Given the description of an element on the screen output the (x, y) to click on. 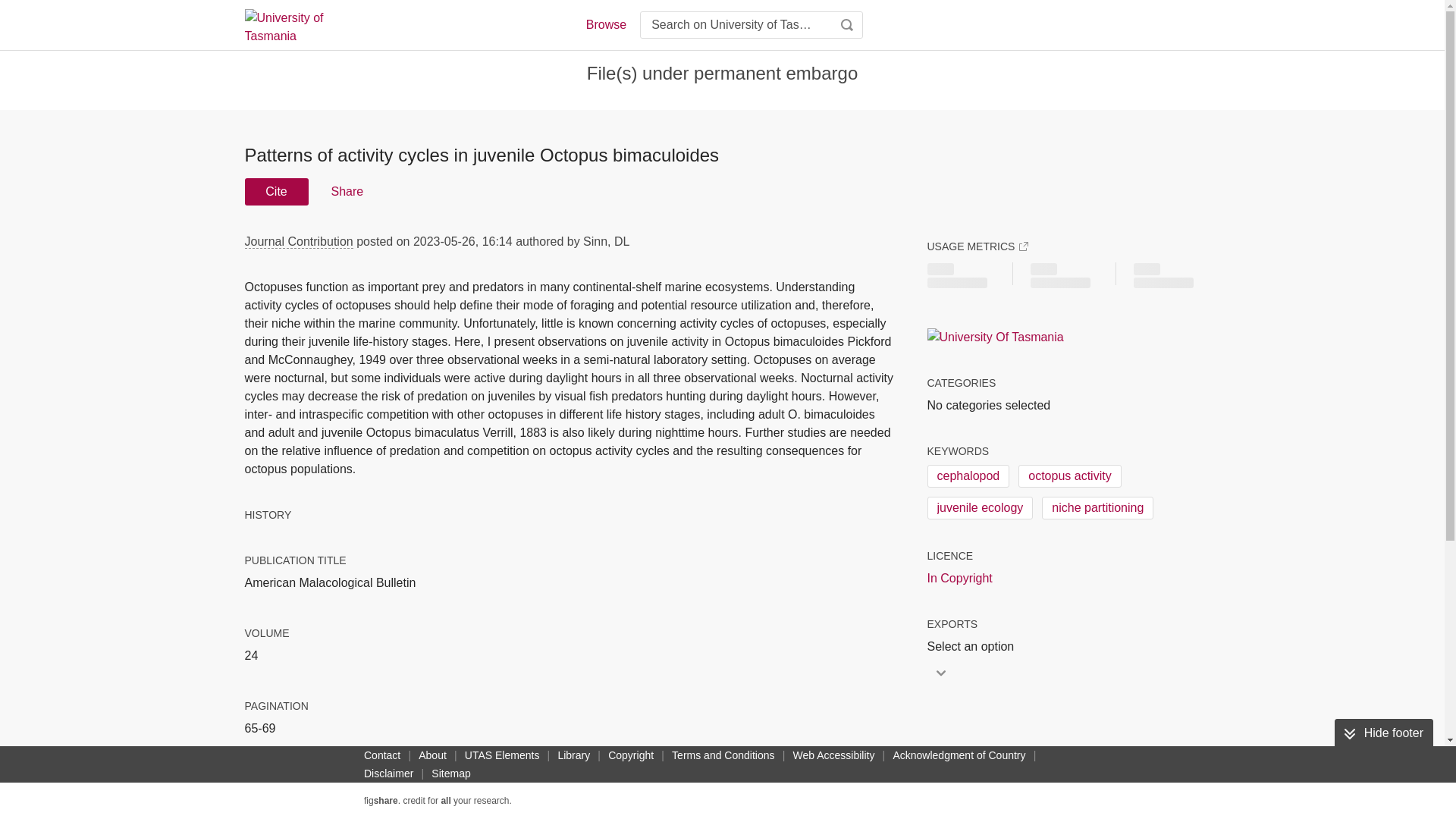
Browse (605, 24)
Web Accessibility (834, 755)
niche partitioning (1097, 507)
In Copyright (958, 578)
About (432, 755)
Contact (381, 755)
juvenile ecology (979, 507)
Disclaimer (388, 773)
Share (346, 191)
Terms and Conditions (722, 755)
USAGE METRICS (976, 246)
cephalopod (967, 476)
Copyright (631, 755)
Library (573, 755)
Sitemap (450, 773)
